Given the description of an element on the screen output the (x, y) to click on. 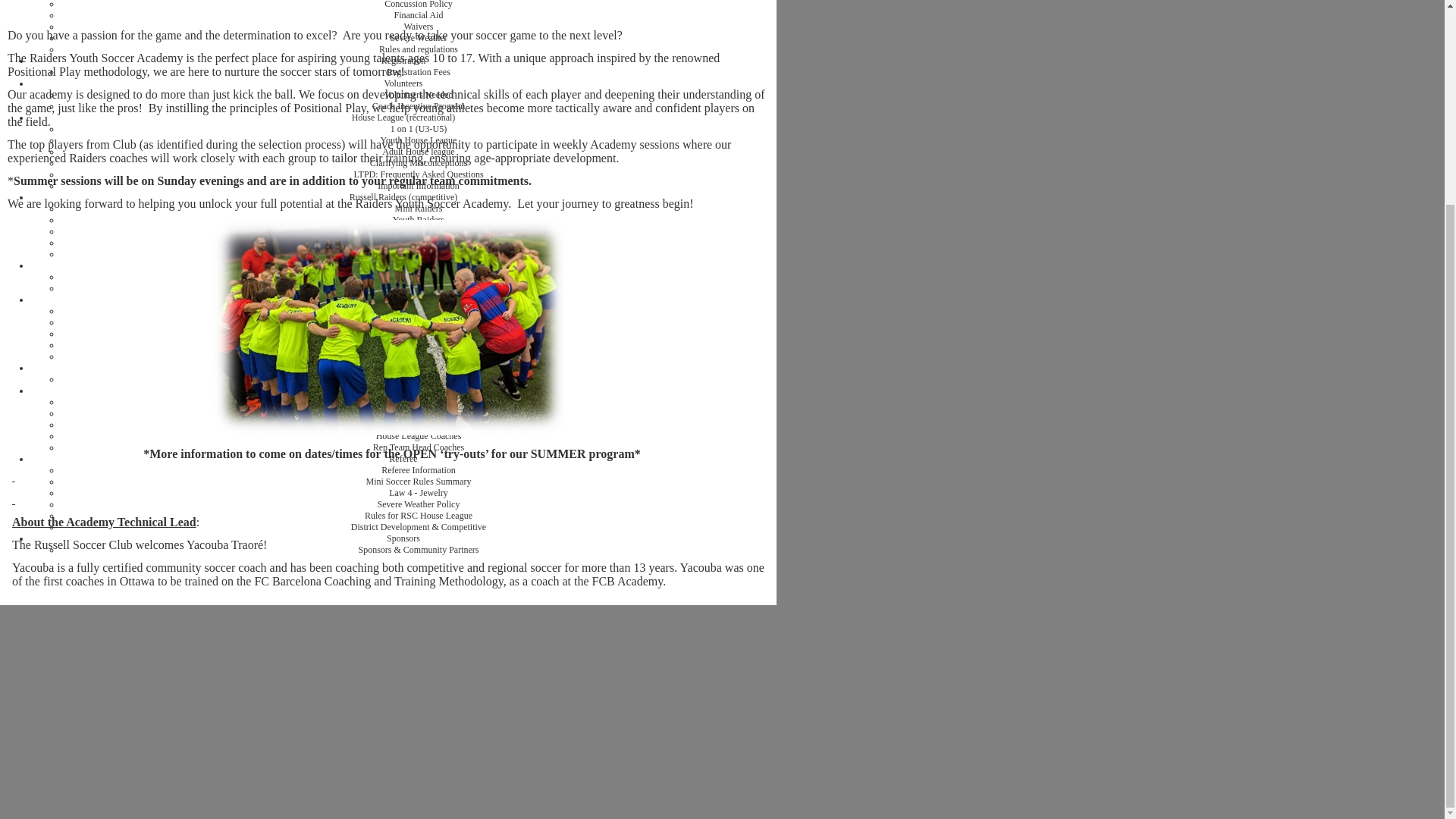
Youth House League (418, 140)
Russell Raiders Youth Academy (418, 276)
Coach Incentive Program (418, 105)
Volunteers (403, 82)
Youth Raiders (418, 219)
Rules and regulations (418, 49)
Raiders Commitment Policy (418, 253)
Registration Fees (418, 71)
Evaluation Policy (418, 242)
Adult House league (417, 151)
Concussion Policy (418, 4)
Mini Raiders (418, 208)
Financial Aid (419, 14)
Walking Soccer (403, 299)
Important Information (418, 185)
